Given the description of an element on the screen output the (x, y) to click on. 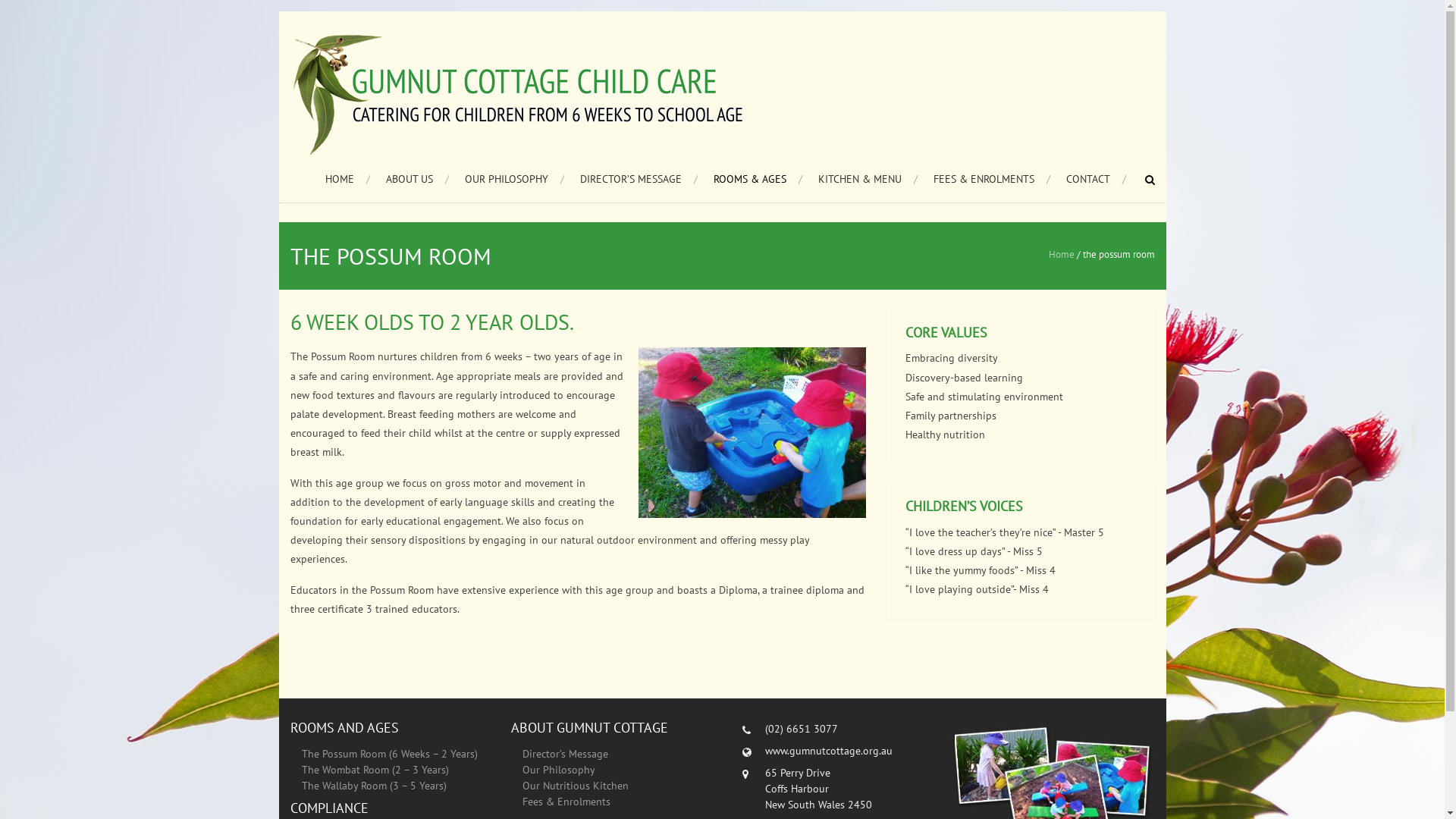
ROOMS & AGES Element type: text (756, 178)
FEES & ENROLMENTS Element type: text (990, 178)
HOME Element type: text (346, 178)
Home Element type: text (1060, 253)
ABOUT US Element type: text (416, 178)
Our Philosophy Element type: text (558, 769)
OUR PHILOSOPHY Element type: text (513, 178)
KITCHEN & MENU Element type: text (866, 178)
Fees & Enrolments Element type: text (566, 801)
Our Nutritious Kitchen Element type: text (575, 785)
CONTACT Element type: text (1096, 178)
